Given the description of an element on the screen output the (x, y) to click on. 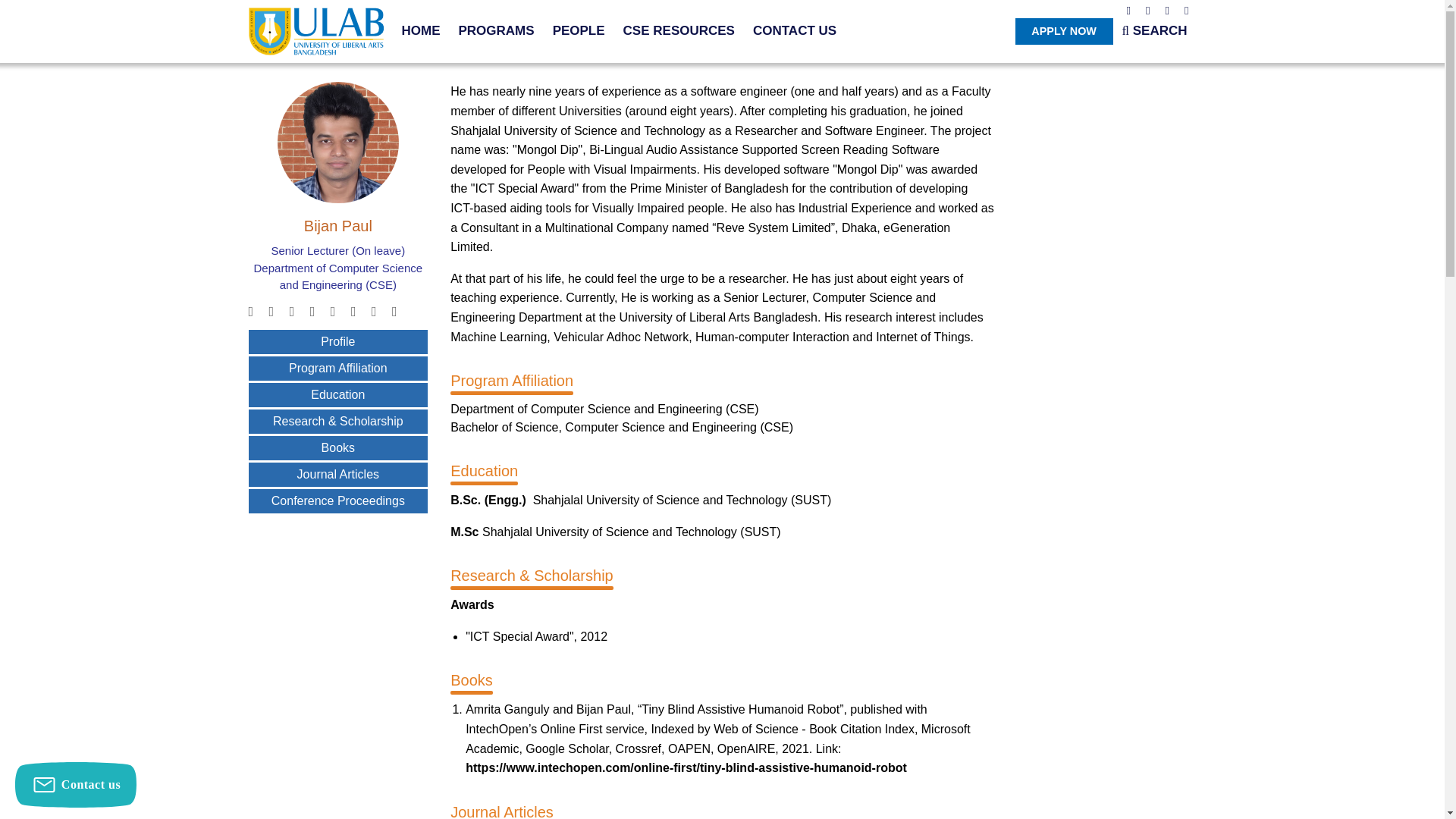
SEARCH (1155, 30)
PEOPLE (579, 30)
CSE RESOURCES (679, 30)
HOME (421, 30)
CONTACT US (793, 30)
PROGRAMS (496, 30)
APPLY NOW (1063, 31)
